Given the description of an element on the screen output the (x, y) to click on. 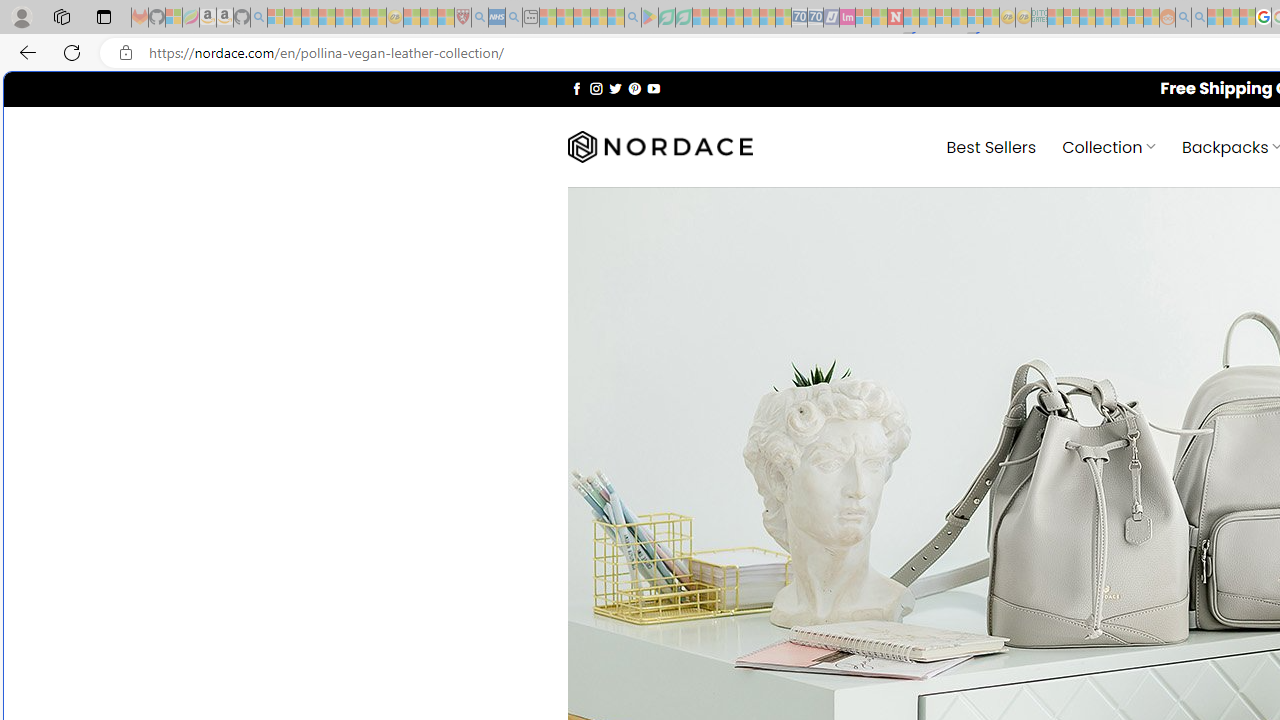
 Best Sellers (990, 146)
DITOGAMES AG Imprint - Sleeping (1039, 17)
Pets - MSN - Sleeping (598, 17)
Local - MSN - Sleeping (445, 17)
Cheap Car Rentals - Save70.com - Sleeping (799, 17)
Trusted Community Engagement and Contributions | Guidelines (911, 17)
Follow on Pinterest (634, 88)
Follow on Facebook (576, 88)
